Given the description of an element on the screen output the (x, y) to click on. 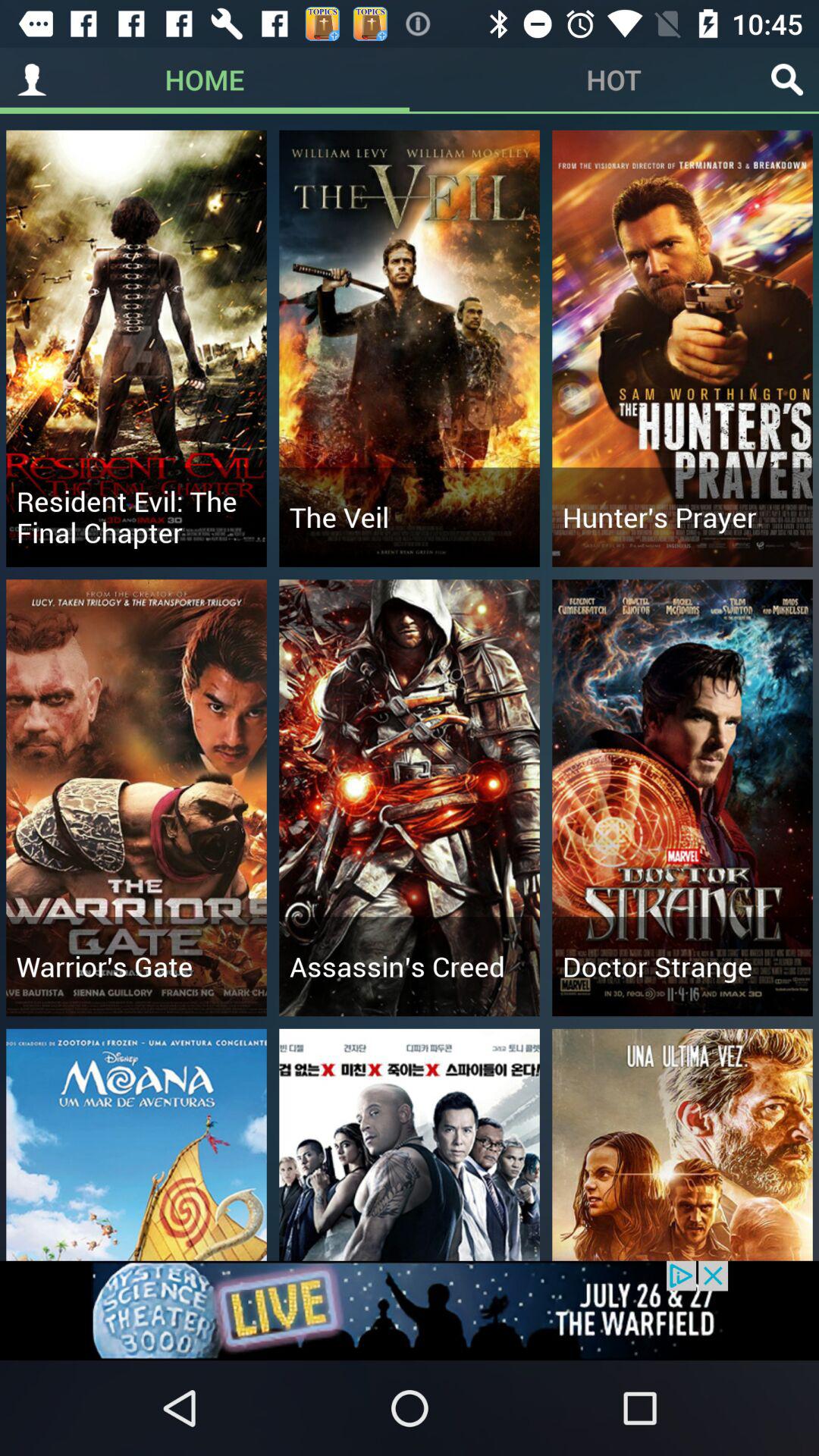
go to profile tab (31, 79)
